Given the description of an element on the screen output the (x, y) to click on. 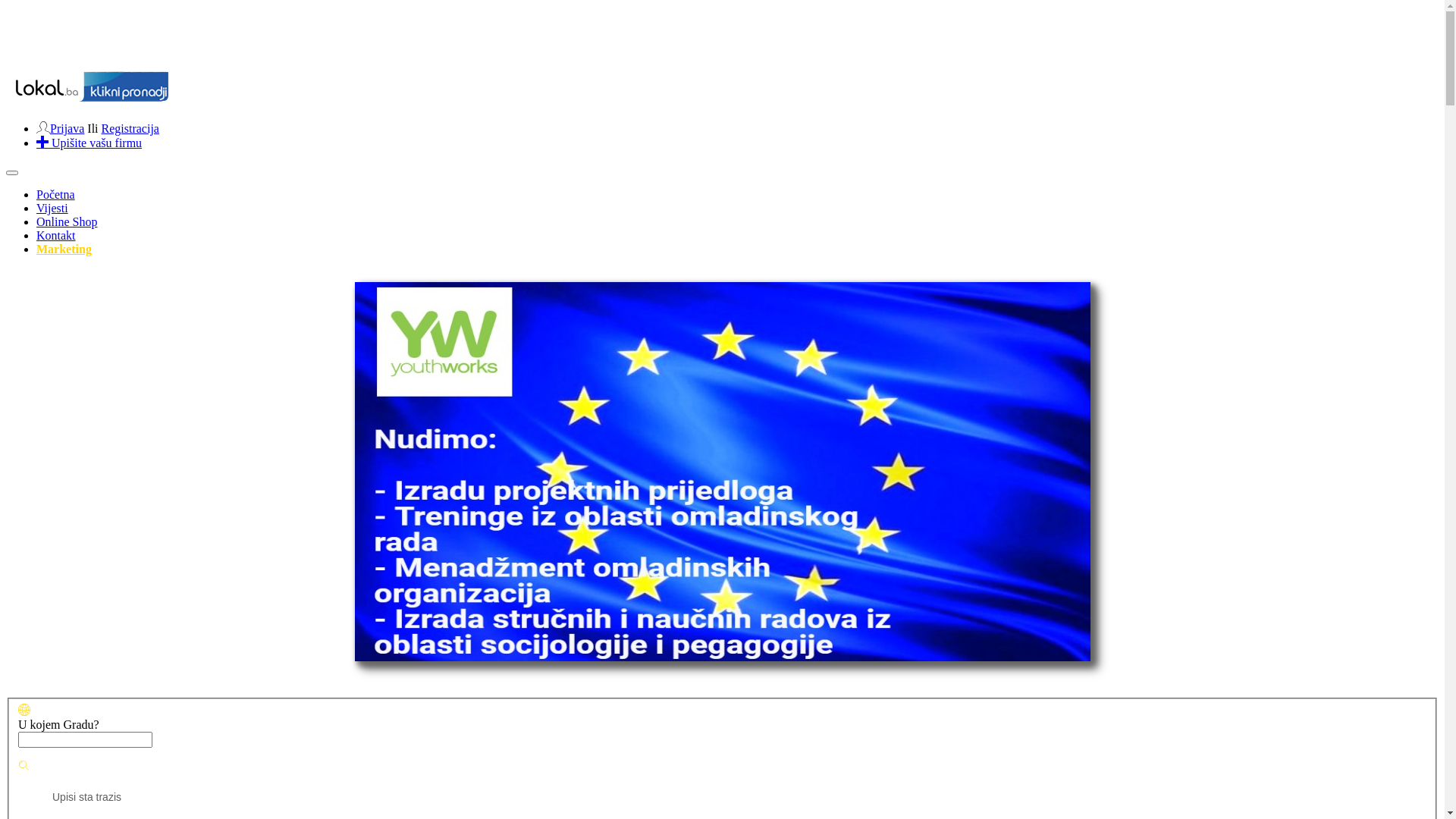
Toggle navigation Element type: text (12, 172)
Marketing Element type: text (63, 248)
Online Shop Element type: text (66, 221)
Vijesti Element type: text (52, 207)
U kojem Gradu? Element type: text (69, 724)
Prijava Element type: text (67, 128)
Registracija Element type: text (130, 128)
Kontakt Element type: text (55, 235)
